Given the description of an element on the screen output the (x, y) to click on. 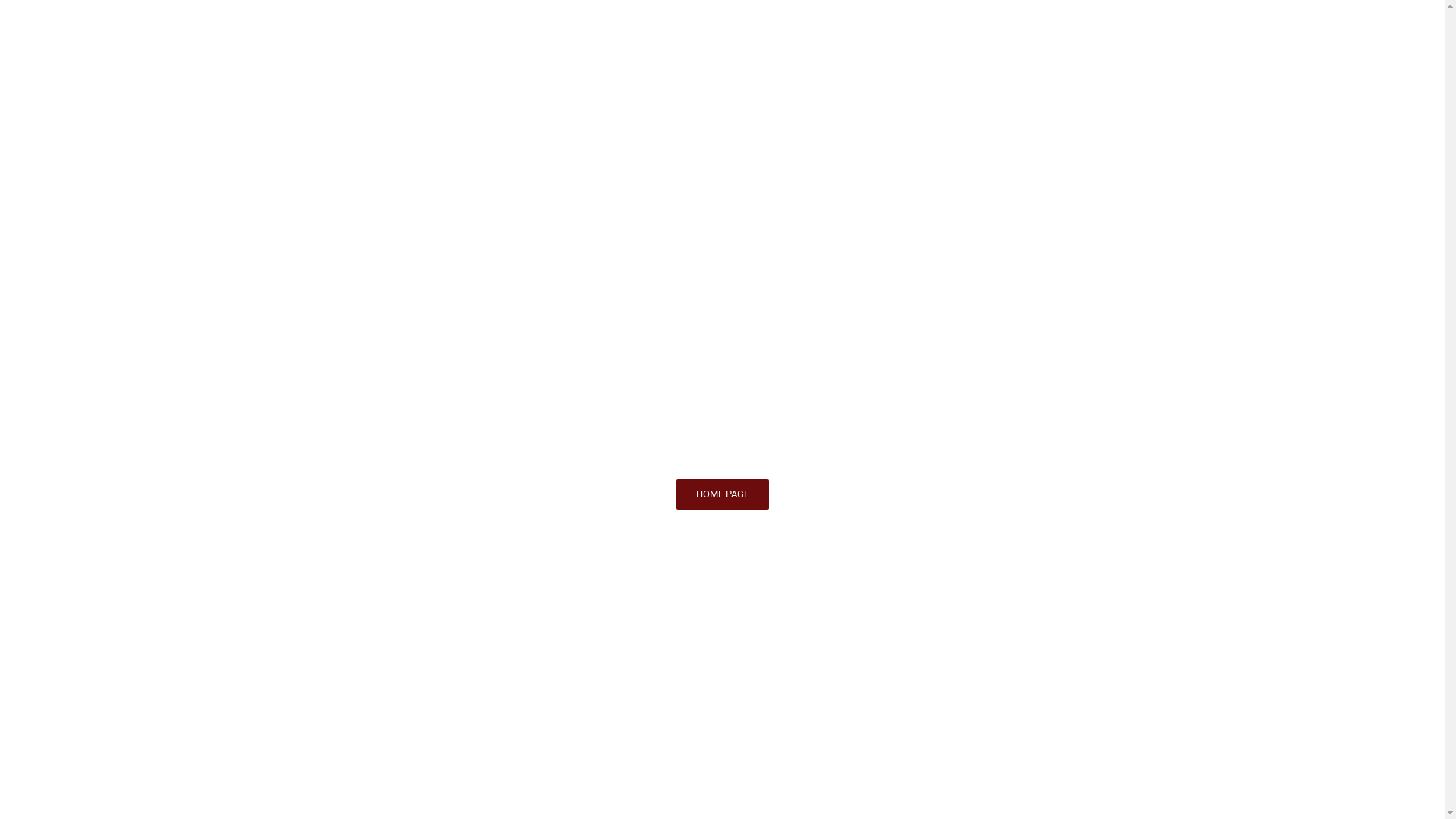
HOME PAGE Element type: text (722, 494)
